Given the description of an element on the screen output the (x, y) to click on. 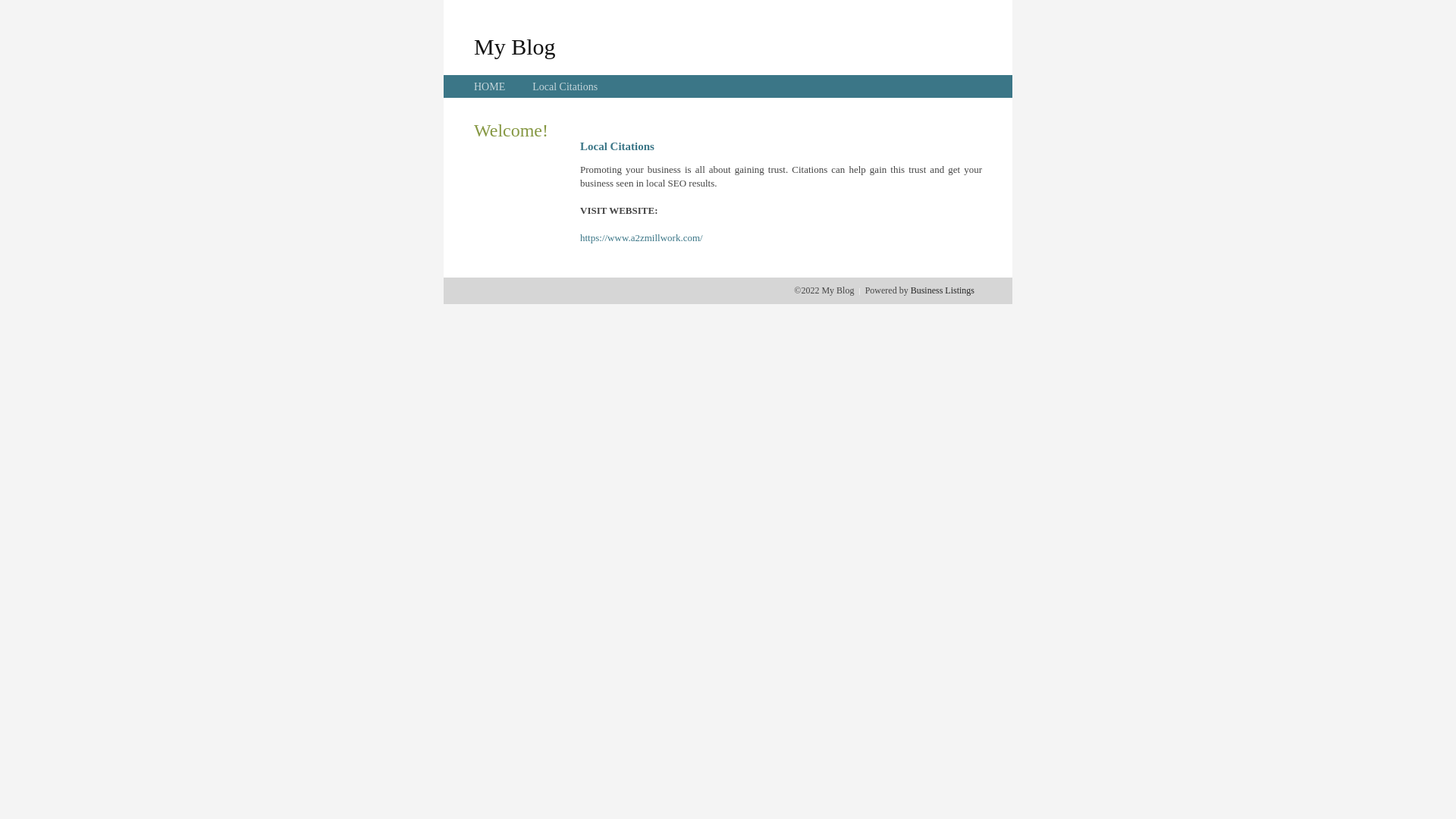
HOME Element type: text (489, 86)
My Blog Element type: text (514, 46)
https://www.a2zmillwork.com/ Element type: text (641, 237)
Business Listings Element type: text (942, 290)
Local Citations Element type: text (564, 86)
